Given the description of an element on the screen output the (x, y) to click on. 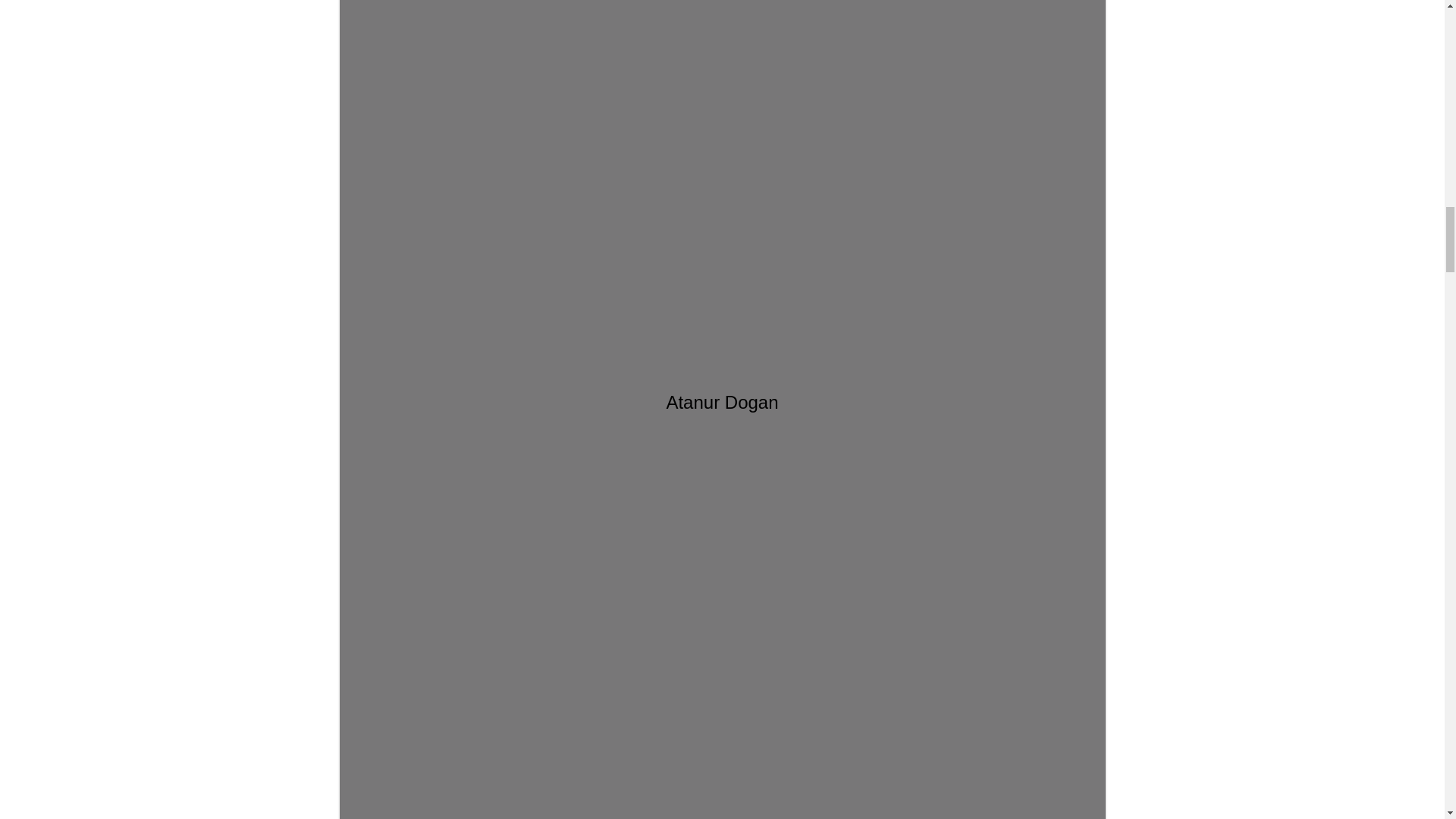
Atanur Dogan (722, 93)
